Given the description of an element on the screen output the (x, y) to click on. 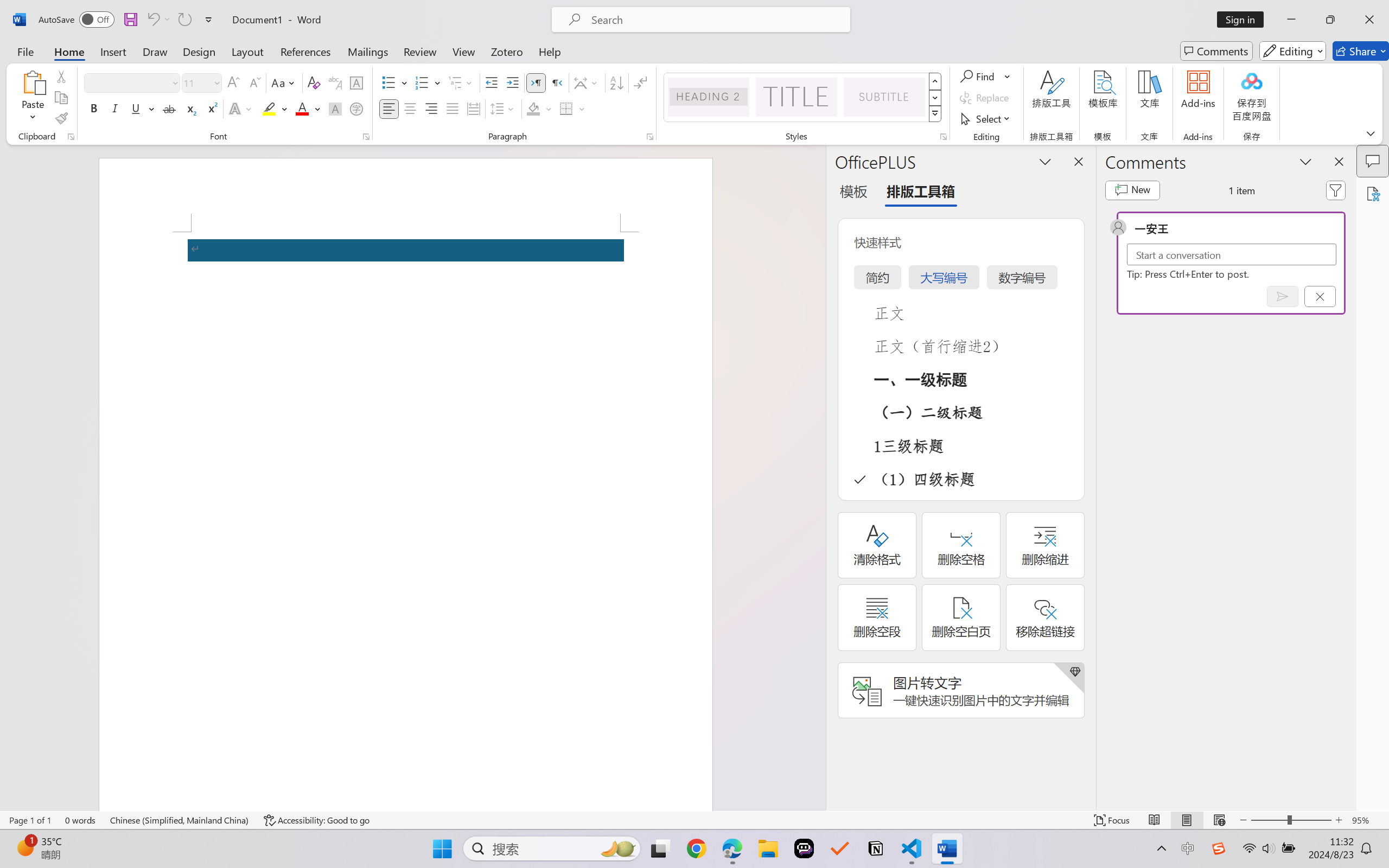
Language Chinese (Simplified, Mainland China) (179, 819)
